Given the description of an element on the screen output the (x, y) to click on. 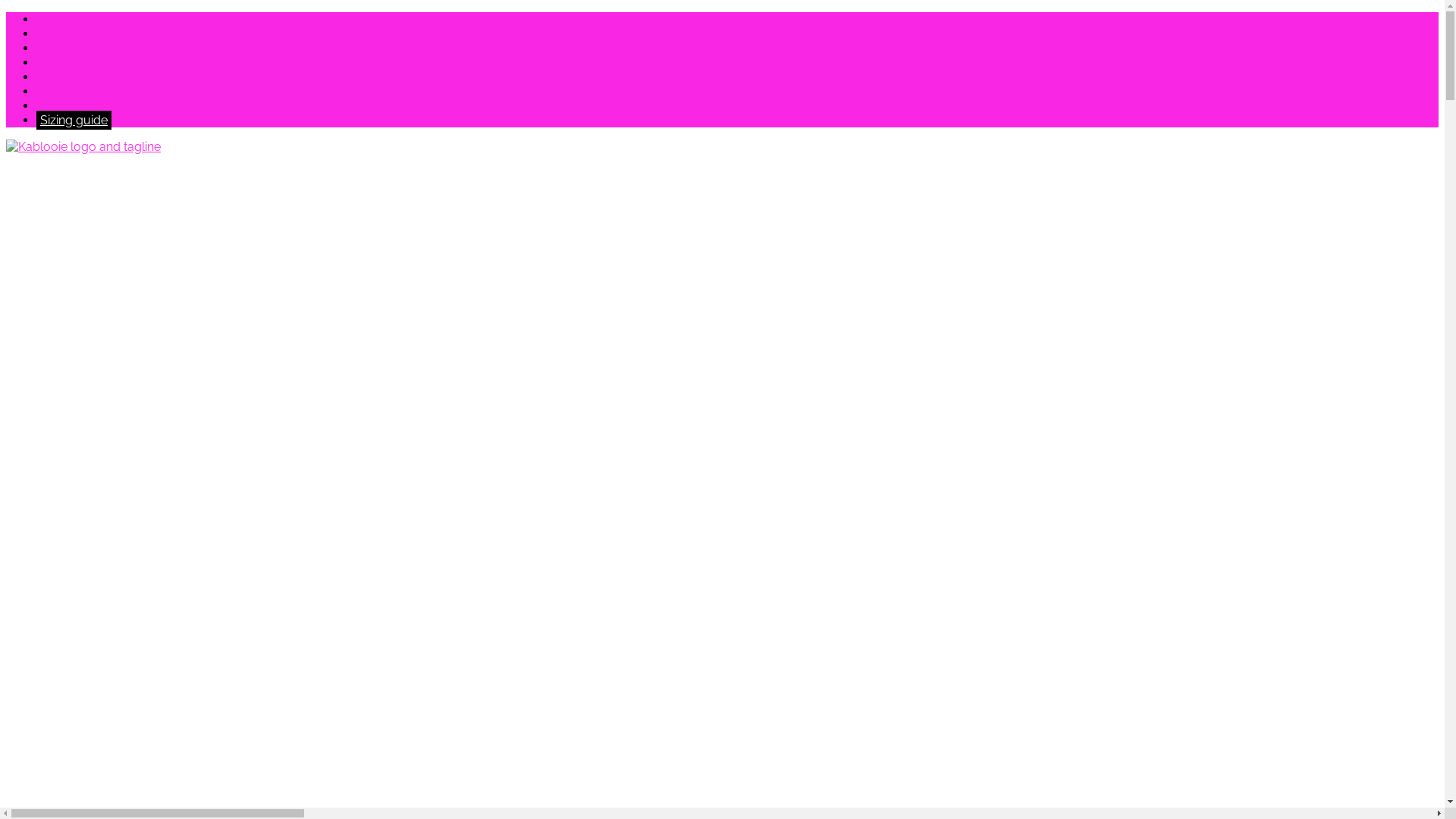
Reviews Element type: text (59, 76)
About Element type: text (53, 33)
My Account Element type: text (70, 105)
Home Element type: text (53, 19)
Rewards Club Element type: text (75, 91)
How to Customise Element type: text (88, 47)
FAQ Element type: text (47, 62)
Sizing guide Element type: text (73, 119)
